Given the description of an element on the screen output the (x, y) to click on. 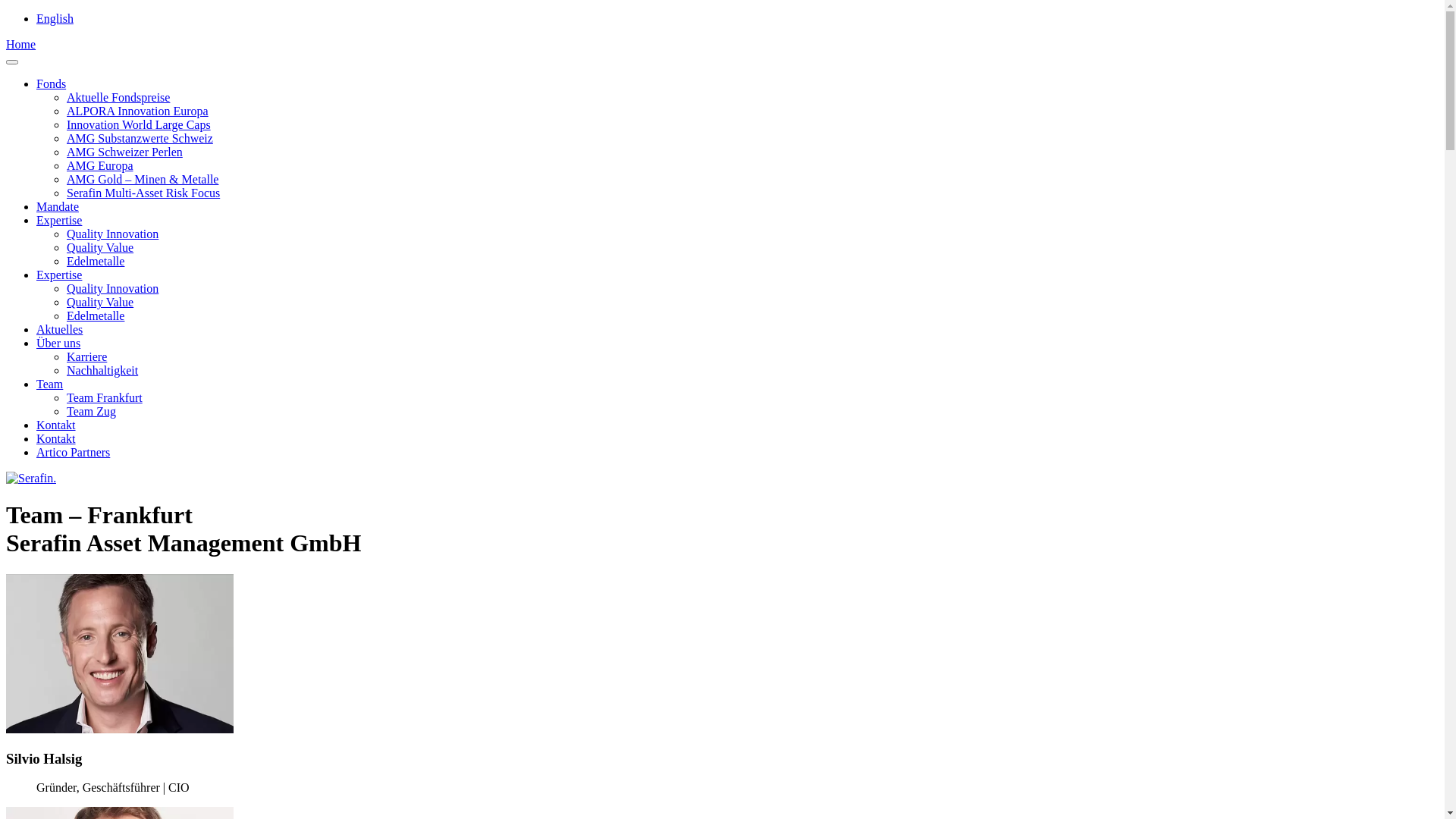
Team Element type: text (49, 383)
Edelmetalle Element type: text (95, 260)
English Element type: text (54, 18)
Expertise Element type: text (58, 274)
Home Element type: text (20, 43)
Mandate Element type: text (57, 206)
Quality Value Element type: text (99, 301)
Edelmetalle Element type: text (95, 315)
Kontakt Element type: text (55, 438)
Team Zug Element type: text (91, 410)
Artico Partners Element type: text (72, 451)
Quality Innovation Element type: text (112, 233)
ALPORA Innovation Europa Element type: text (137, 110)
AMG Substanzwerte Schweiz Element type: text (139, 137)
Quality Value Element type: text (99, 247)
Expertise Element type: text (58, 219)
Team Frankfurt Element type: text (104, 397)
Quality Innovation Element type: text (112, 288)
Aktuelles Element type: text (59, 329)
Innovation World Large Caps Element type: text (138, 124)
AMG Europa Element type: text (99, 165)
Kontakt Element type: text (55, 424)
Nachhaltigkeit Element type: text (102, 370)
Serafin Multi-Asset Risk Focus Element type: text (142, 192)
Aktuelle Fondspreise Element type: text (117, 97)
Fonds Element type: text (50, 83)
AMG Schweizer Perlen Element type: text (124, 151)
Karriere Element type: text (86, 356)
